Given the description of an element on the screen output the (x, y) to click on. 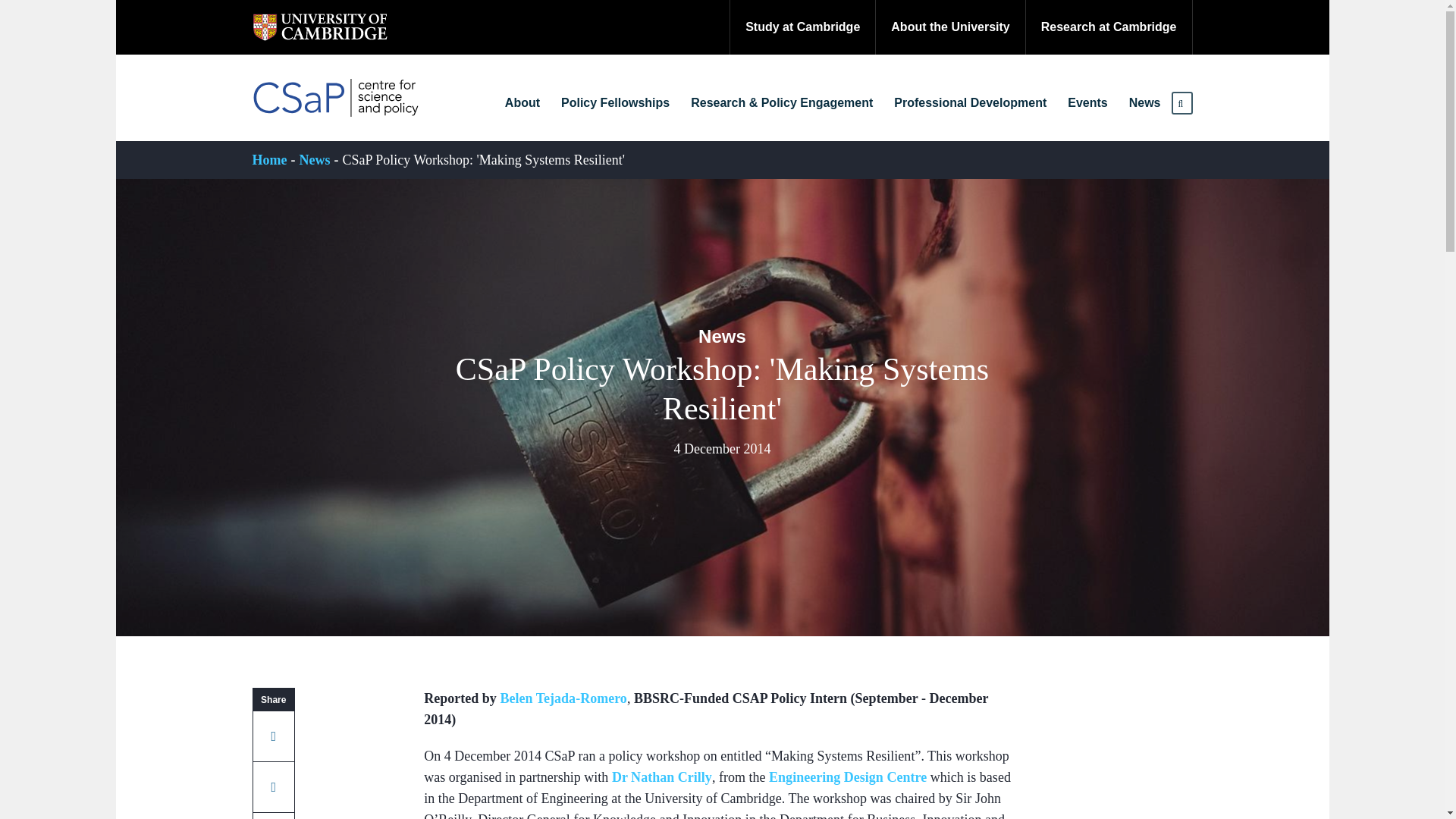
Research at Cambridge (1108, 27)
About the University (950, 27)
About (522, 102)
Professional Development (970, 102)
Policy Fellowships (614, 102)
Study at Cambridge (802, 27)
Events (1086, 102)
